Given the description of an element on the screen output the (x, y) to click on. 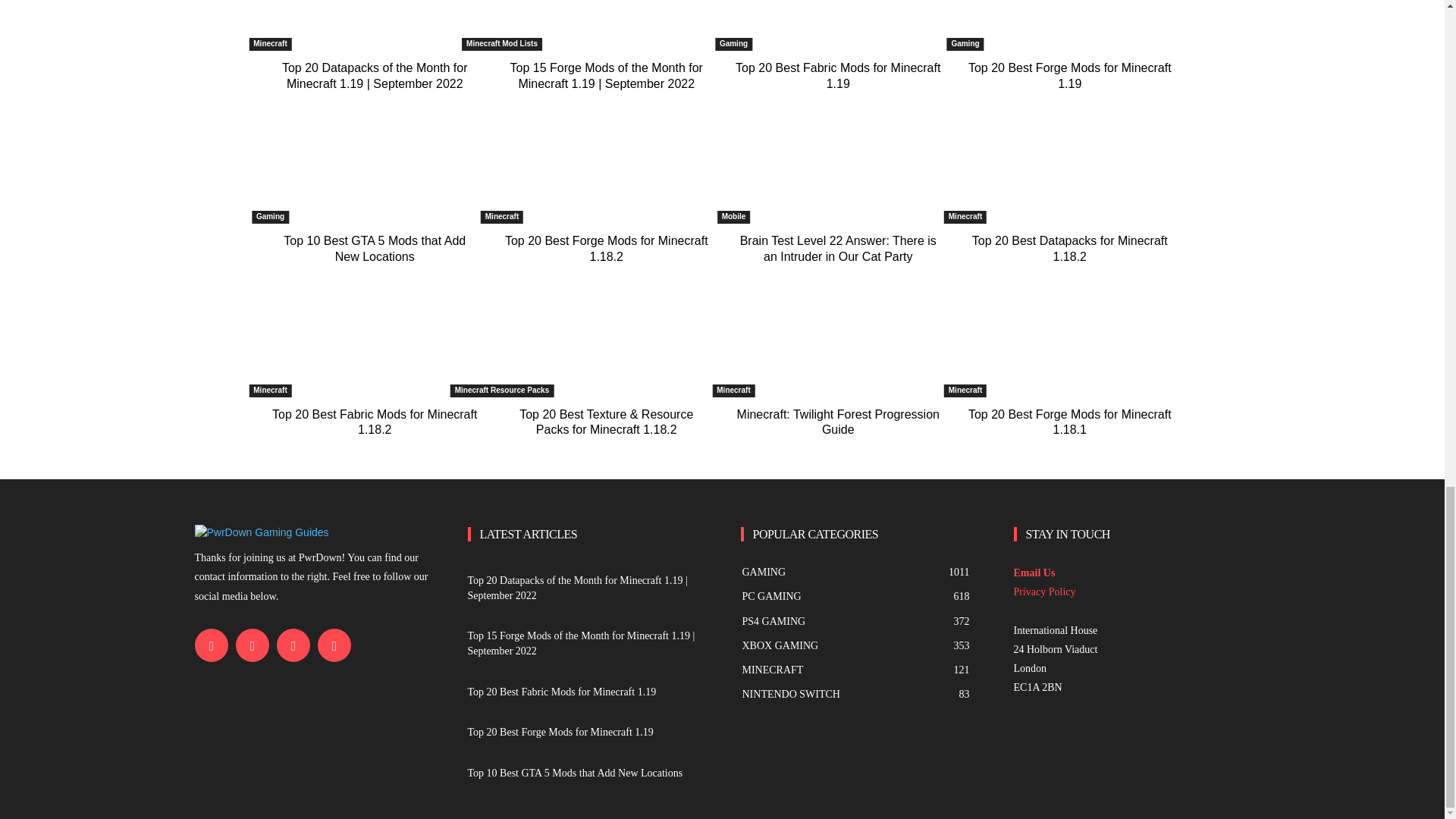
Top 10 Best GTA 5 Mods that Add New Locations (374, 248)
Top 20 Best Forge Mods for Minecraft 1.18.2 (606, 248)
Top 20 Best Fabric Mods for Minecraft 1.19 (838, 25)
Top 20 Best Forge Mods for Minecraft 1.19 (1069, 25)
Top 10 Best GTA 5 Mods that Add New Locations (374, 171)
Top 20 Best Fabric Mods for Minecraft 1.19 (837, 75)
Top 20 Best Forge Mods for Minecraft 1.19 (1070, 75)
Top 20 Best Forge Mods for Minecraft 1.18.2 (606, 171)
